Given the description of an element on the screen output the (x, y) to click on. 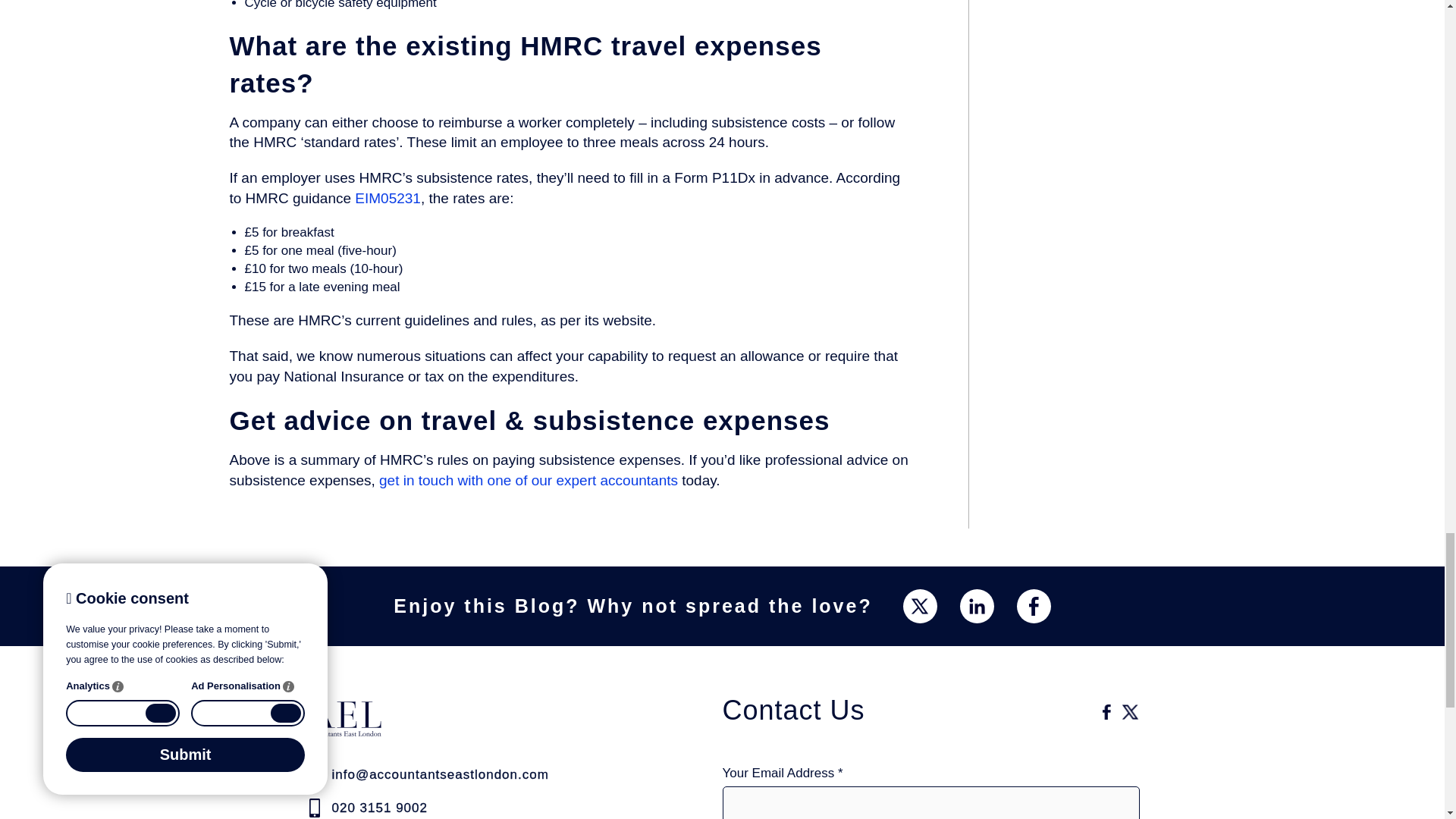
get in touch with one of our expert accountants (528, 480)
020 3151 9002 (471, 807)
EIM05231 (387, 198)
